Given the description of an element on the screen output the (x, y) to click on. 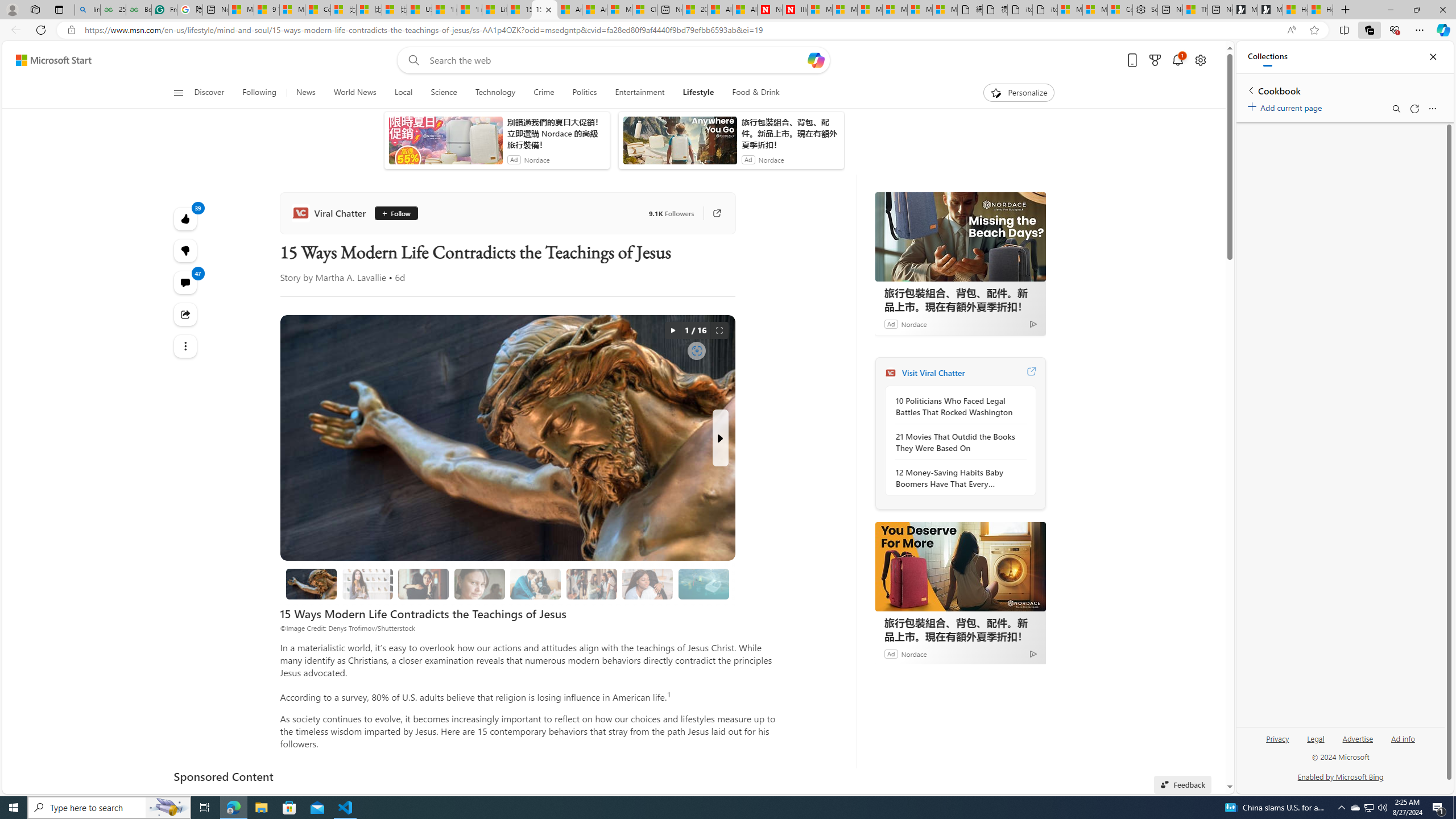
Consumer Health Data Privacy Policy (1119, 9)
Lifestyle - MSN (494, 9)
Feedback (1182, 784)
Technology (495, 92)
Discover (213, 92)
Ad Choice (1032, 653)
Ad (890, 653)
Copilot (Ctrl+Shift+.) (1442, 29)
Back (13, 29)
Visit Viral Chatter website (1031, 372)
Privacy (1277, 742)
Browser essentials (1394, 29)
Entertainment (639, 92)
Crime (543, 92)
